Given the description of an element on the screen output the (x, y) to click on. 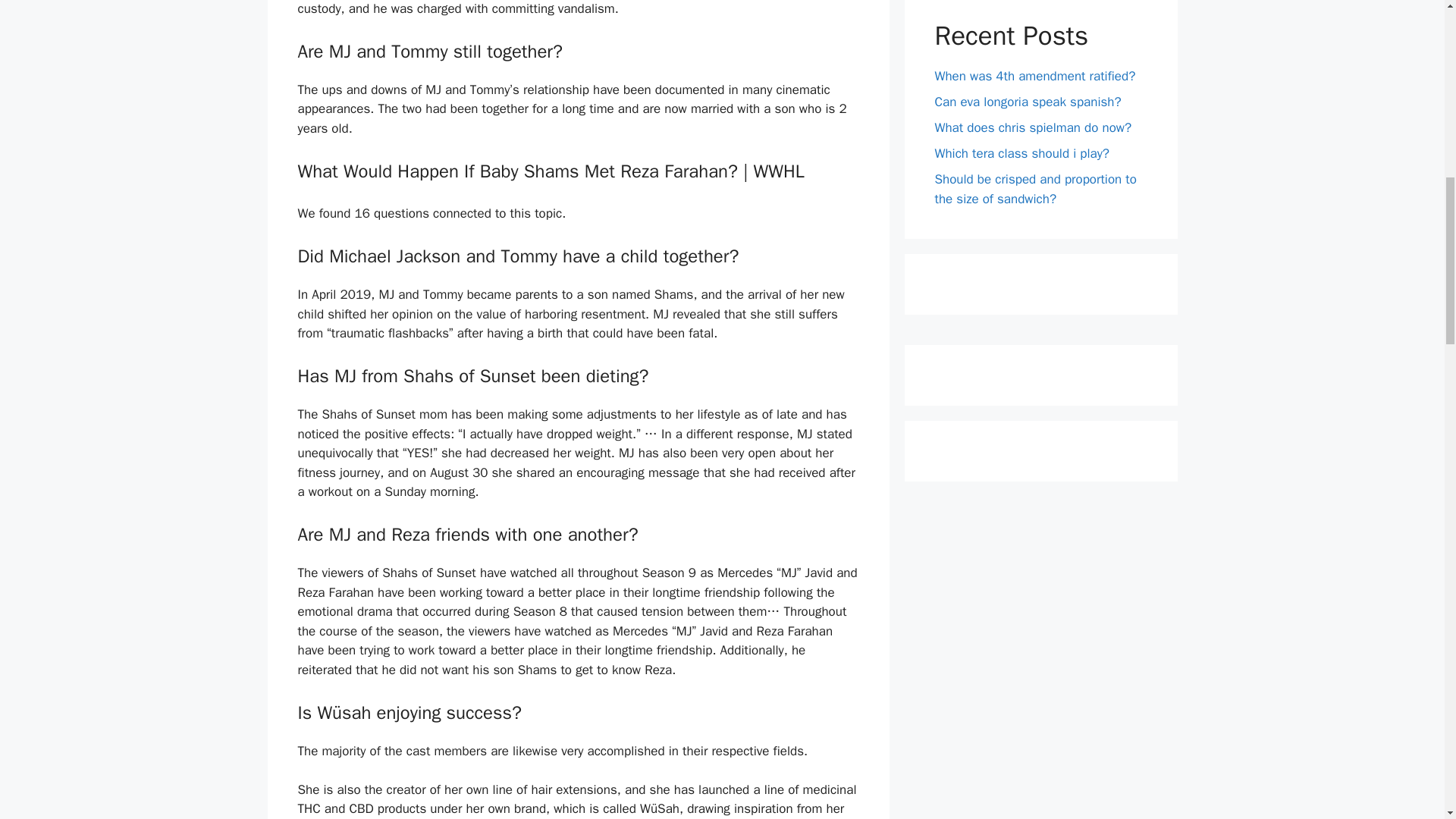
When was 4th amendment ratified? (1034, 75)
Which tera class should i play? (1021, 153)
Can eva longoria speak spanish? (1027, 101)
Should be crisped and proportion to the size of sandwich? (1034, 189)
What does chris spielman do now? (1032, 127)
